Given the description of an element on the screen output the (x, y) to click on. 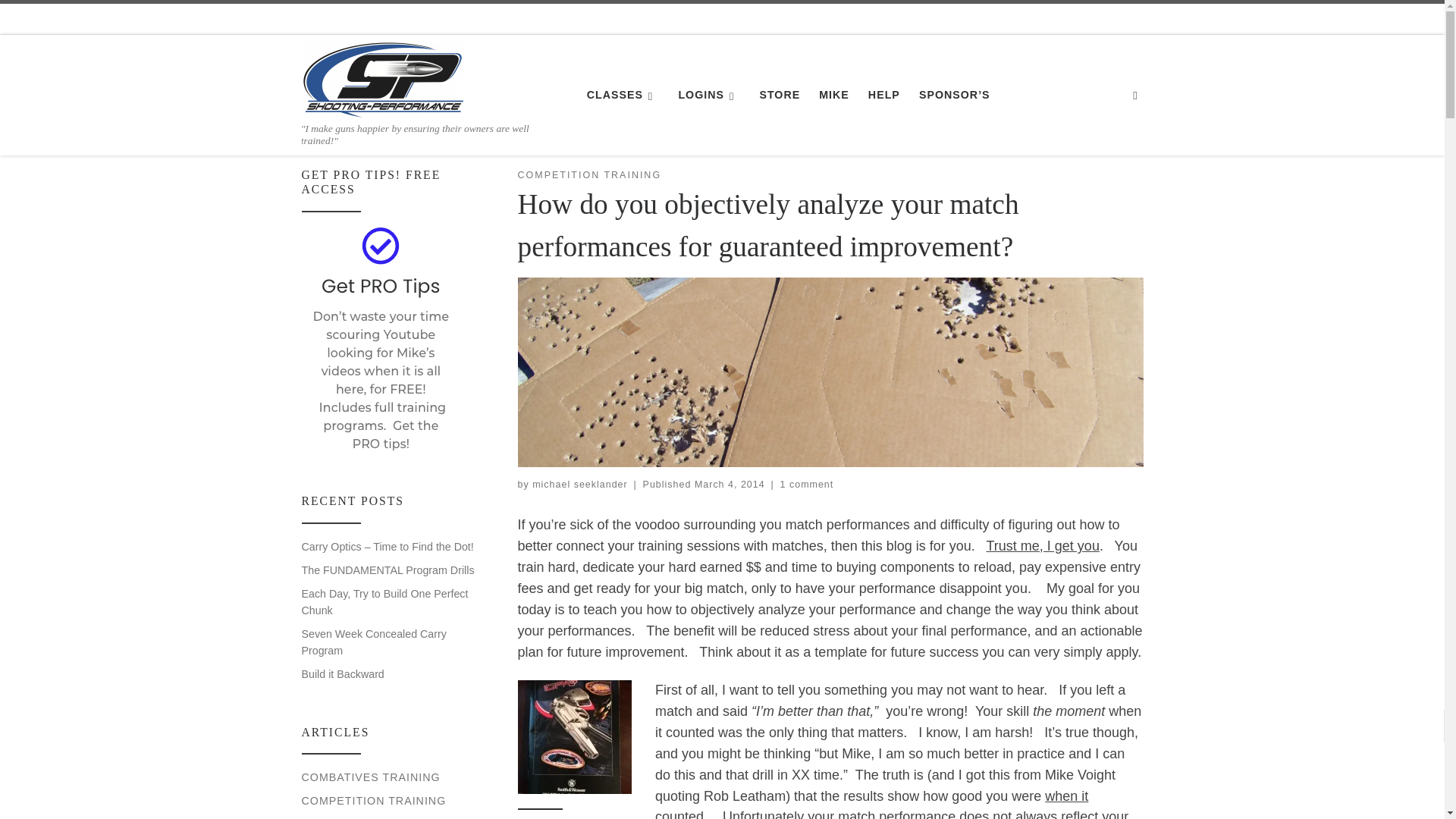
9:27 pm (729, 484)
LOGINS (708, 94)
HELP (884, 94)
CLASSES (621, 94)
COMPETITION TRAINING (588, 175)
michael seeklander (579, 484)
View all posts in Competition Training (588, 175)
View all posts by michael seeklander (579, 484)
STORE (779, 94)
MIKE (833, 94)
March 4, 2014 (729, 484)
